Given the description of an element on the screen output the (x, y) to click on. 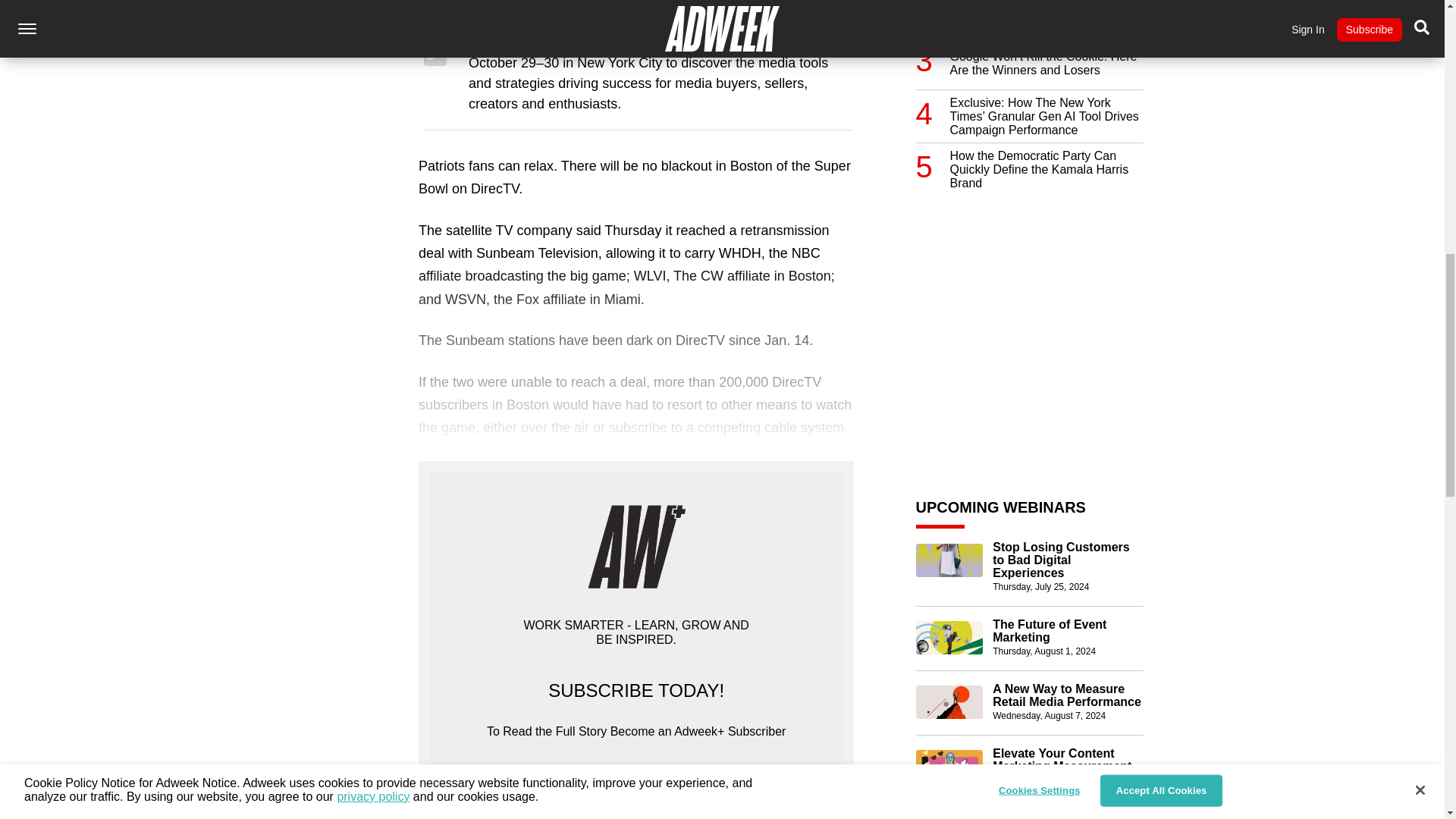
View Subscription Options (636, 793)
Nativo-Webinar-082124-Header (948, 766)
Adobe-Webinar-082224-Header (948, 816)
CventWebinar08012Header (948, 637)
Stackline-Webinar-080724-Header (948, 702)
